Given the description of an element on the screen output the (x, y) to click on. 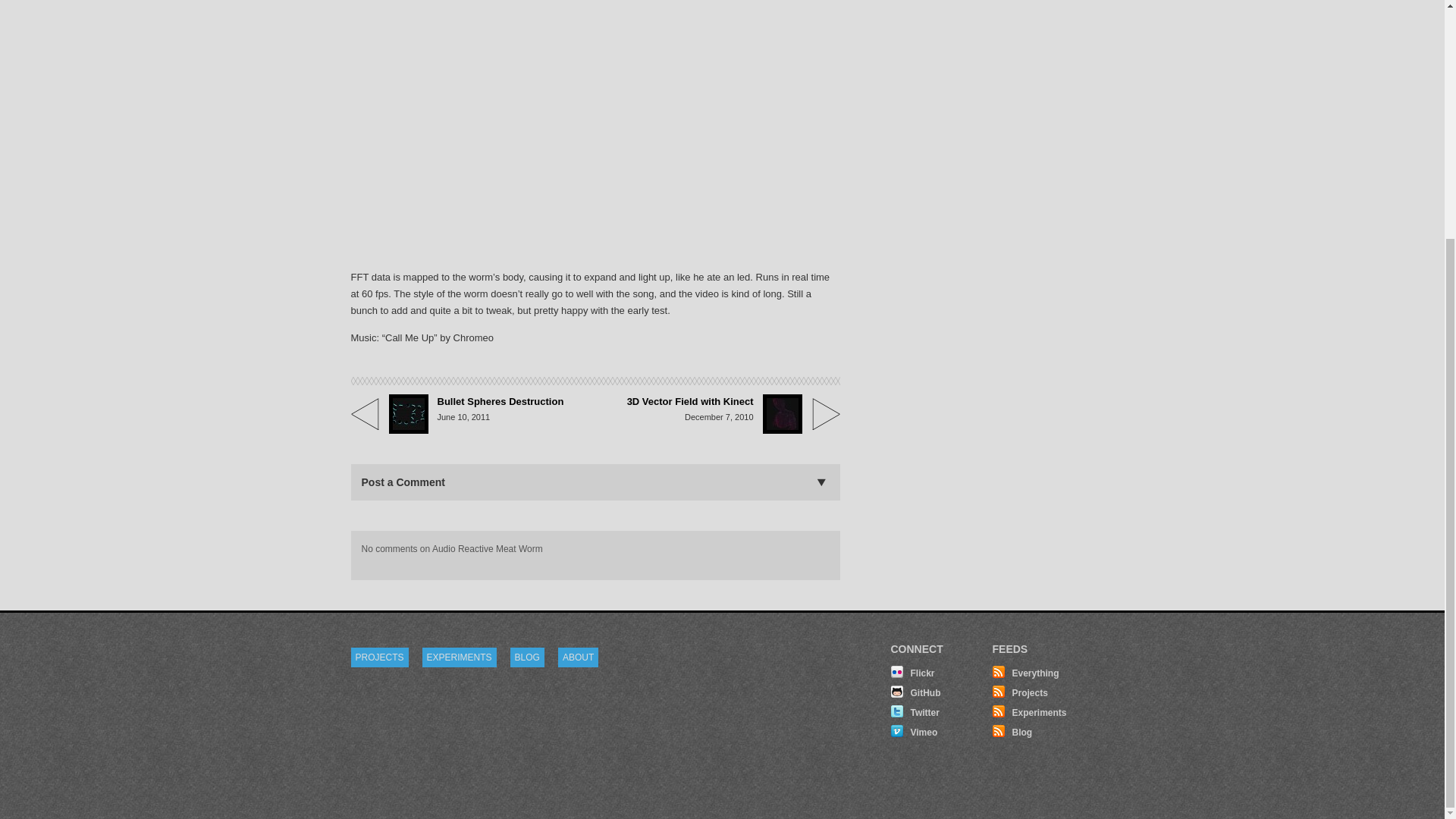
Projects (1018, 691)
BLOG (527, 657)
Experiments (1028, 711)
PROJECTS (378, 657)
Vimeo (913, 730)
Flickr (911, 671)
ABOUT (577, 657)
3D Vector Field with Kinect (690, 401)
Twitter (914, 711)
GitHub (914, 691)
EXPERIMENTS (459, 657)
Bullet Spheres Destruction (499, 401)
Blog (1011, 730)
Everything (1024, 671)
